Given the description of an element on the screen output the (x, y) to click on. 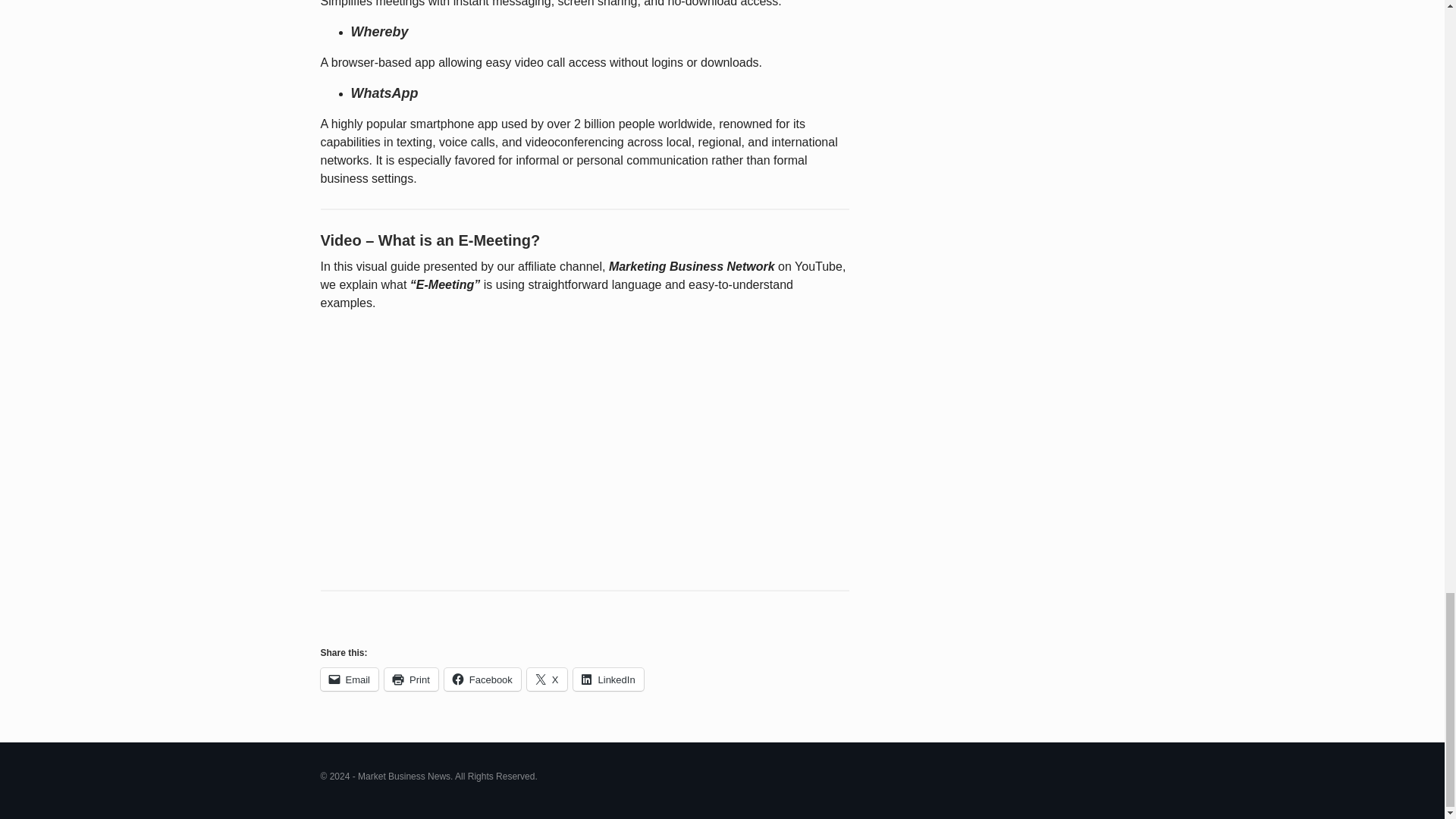
Click to email a link to a friend (349, 679)
Click to share on X (547, 679)
Click to print (411, 679)
YouTube video player (532, 444)
Email (349, 679)
X (547, 679)
Click to share on LinkedIn (608, 679)
LinkedIn (608, 679)
Facebook (482, 679)
Print (411, 679)
Click to share on Facebook (482, 679)
